Given the description of an element on the screen output the (x, y) to click on. 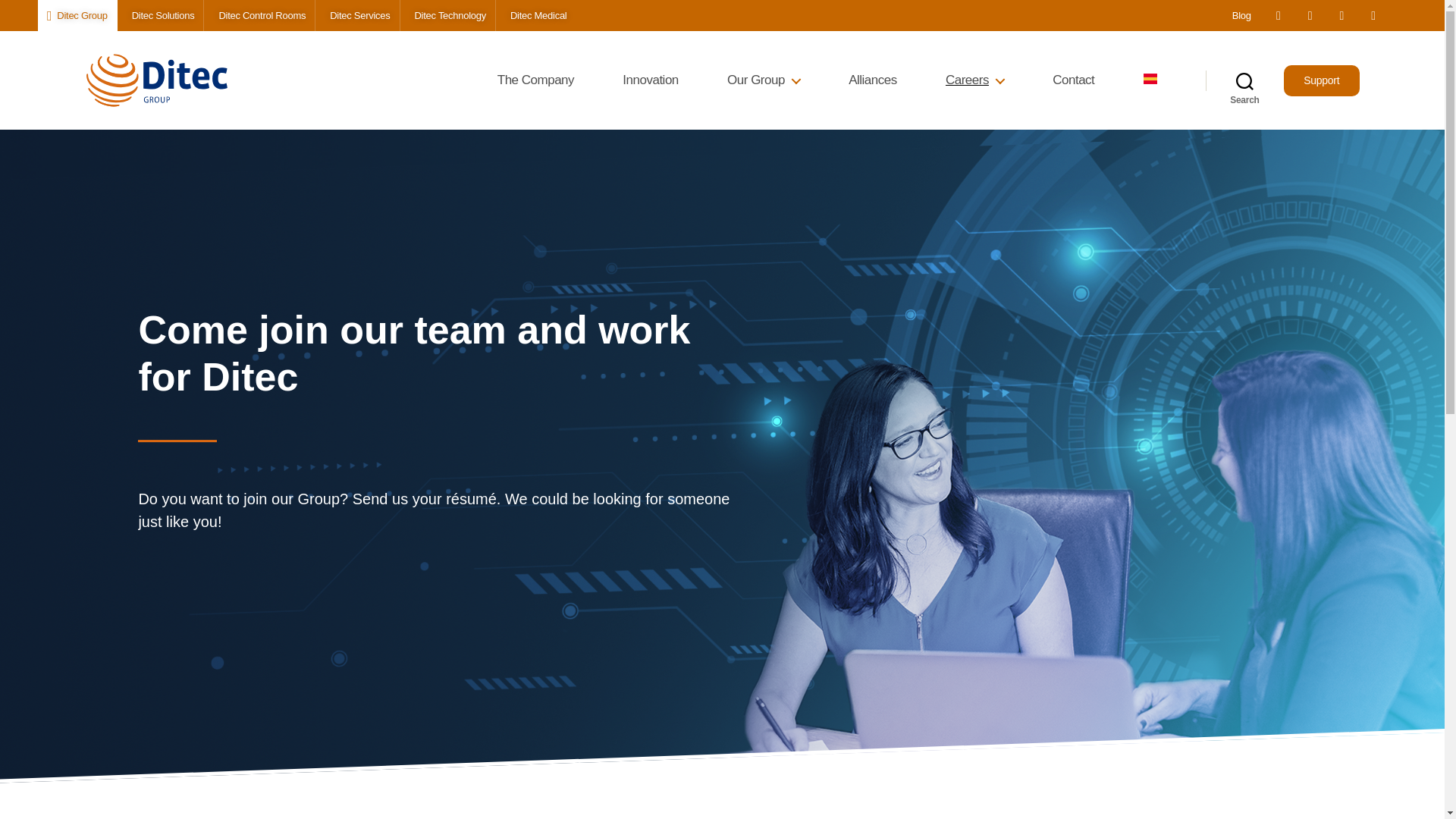
Ditec Solutions (160, 15)
Innovation (650, 79)
Ditec Control Rooms (258, 15)
Support (1321, 80)
The Company (535, 79)
Careers (974, 79)
Search (1244, 80)
Our Group (762, 79)
Contact (1073, 79)
Alliances (872, 79)
Ditec Technology (447, 15)
Ditec Services (357, 15)
Blog (1235, 15)
Ditec Medical (536, 15)
